Given the description of an element on the screen output the (x, y) to click on. 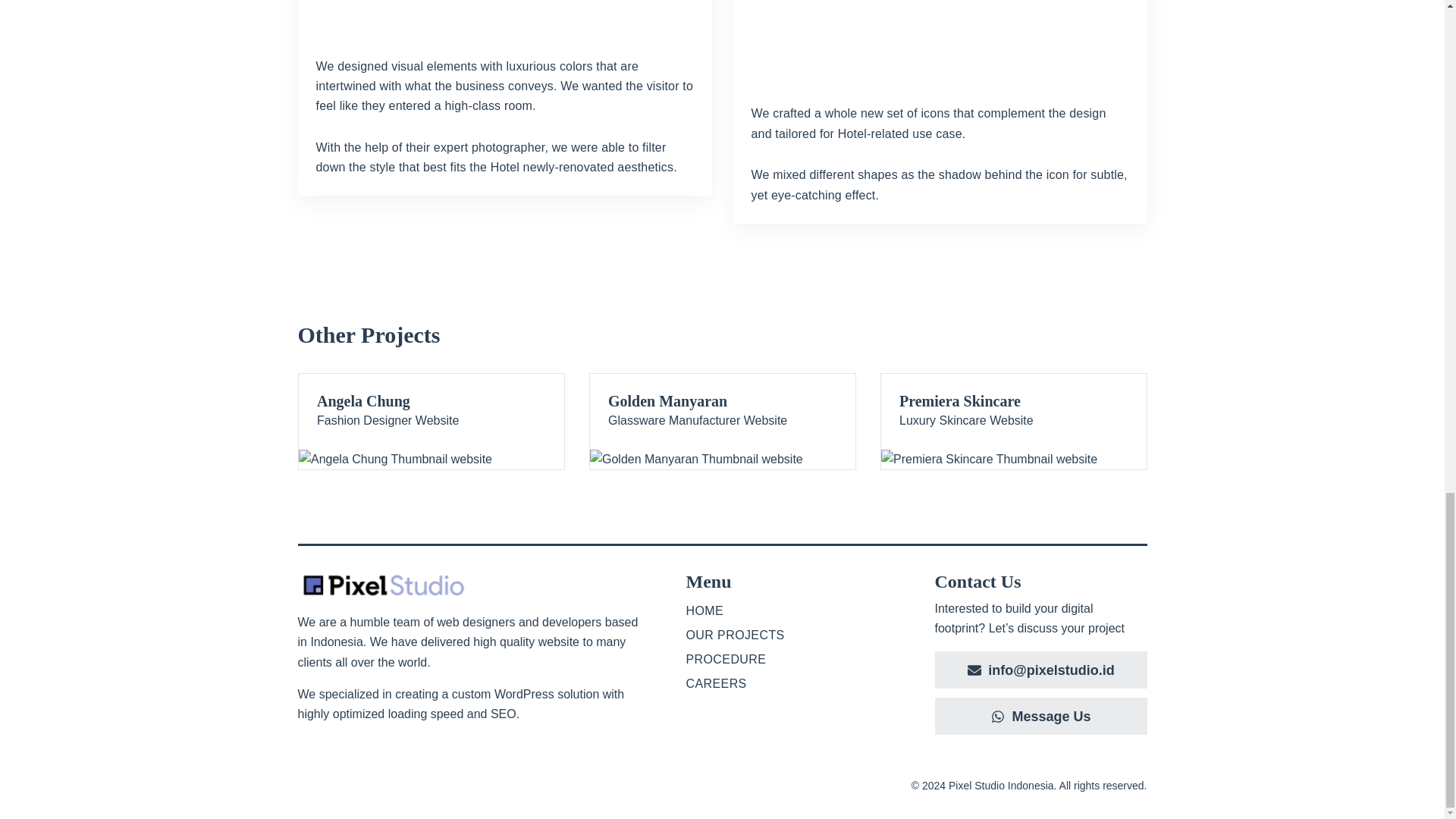
CAREERS (734, 683)
HOME (1013, 421)
PROCEDURE (734, 610)
OUR PROJECTS (430, 421)
Message Us (734, 659)
